Given the description of an element on the screen output the (x, y) to click on. 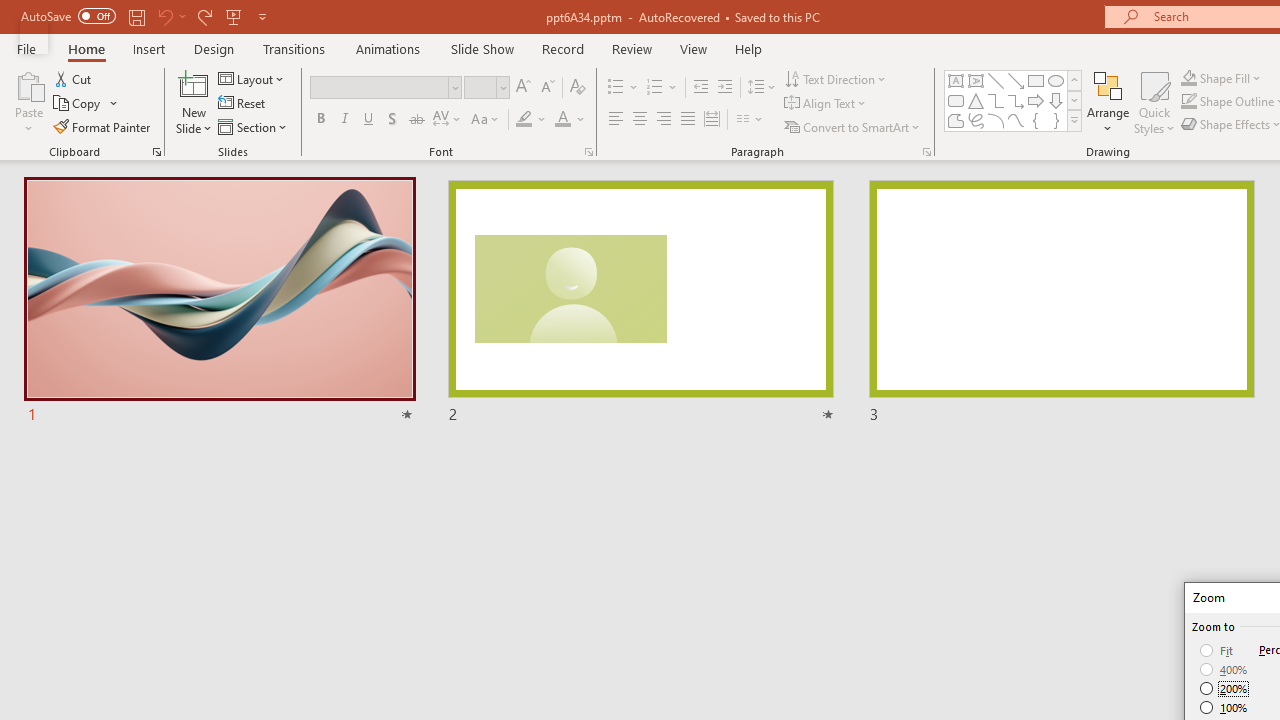
Shape Fill (1221, 78)
Right Brace (1055, 120)
Line Spacing (762, 87)
Isosceles Triangle (975, 100)
Italic (344, 119)
